Given the description of an element on the screen output the (x, y) to click on. 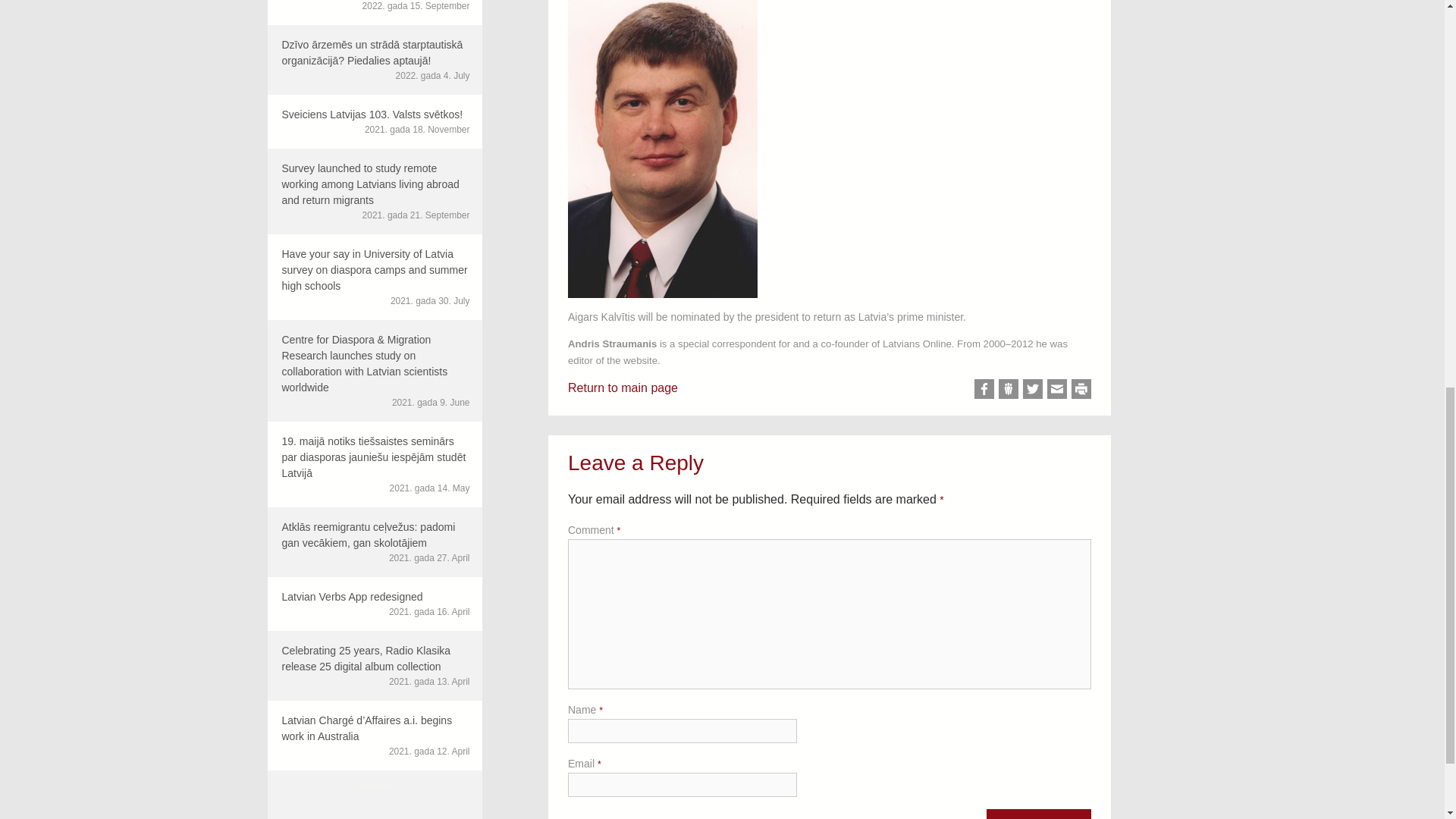
Share on Facebook (984, 388)
Return to main page (622, 387)
Share on Draugiem.lv (1007, 388)
Share on Twitter (373, 603)
Print (1032, 388)
Share via Email (1080, 388)
